Given the description of an element on the screen output the (x, y) to click on. 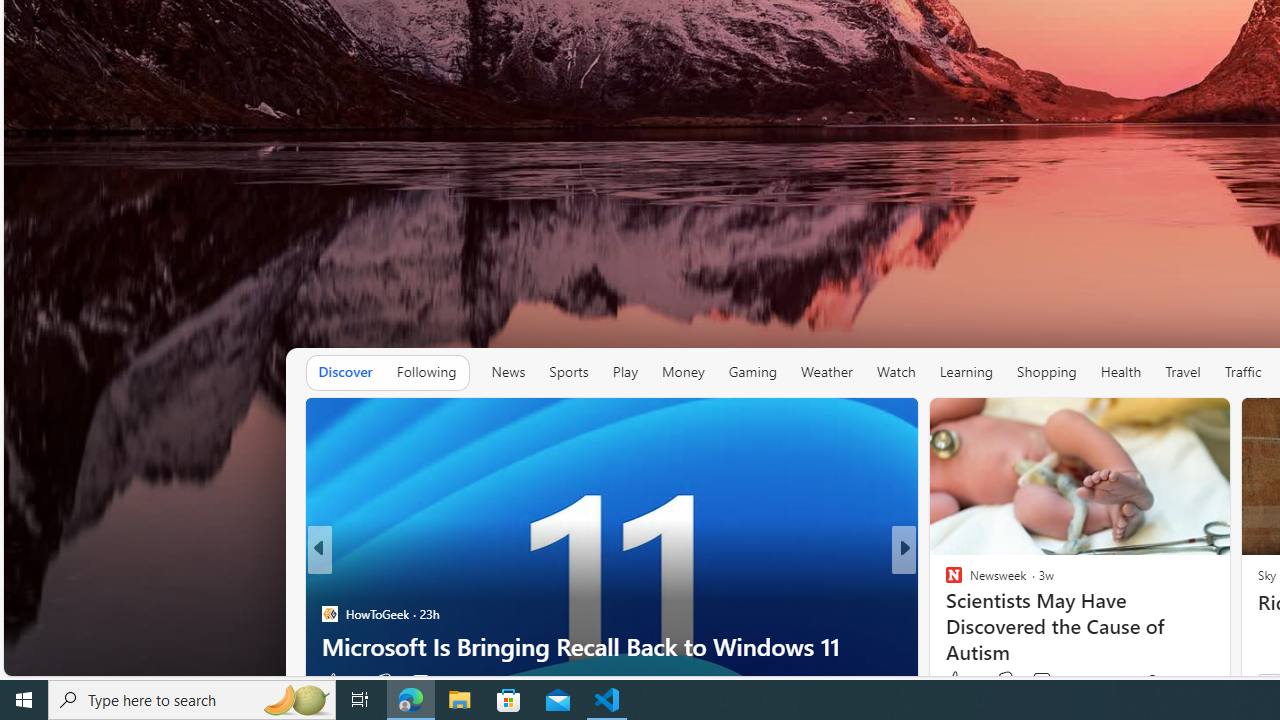
307 Like (959, 681)
YourTango: Revolutionizing Relationships (944, 614)
297 Like (959, 681)
XDA Developers (944, 581)
View comments 23 Comment (1042, 681)
52 Like (956, 681)
View comments 62 Comment (1044, 681)
Microsoft Is Bringing Recall Back to Windows 11 (611, 645)
